Given the description of an element on the screen output the (x, y) to click on. 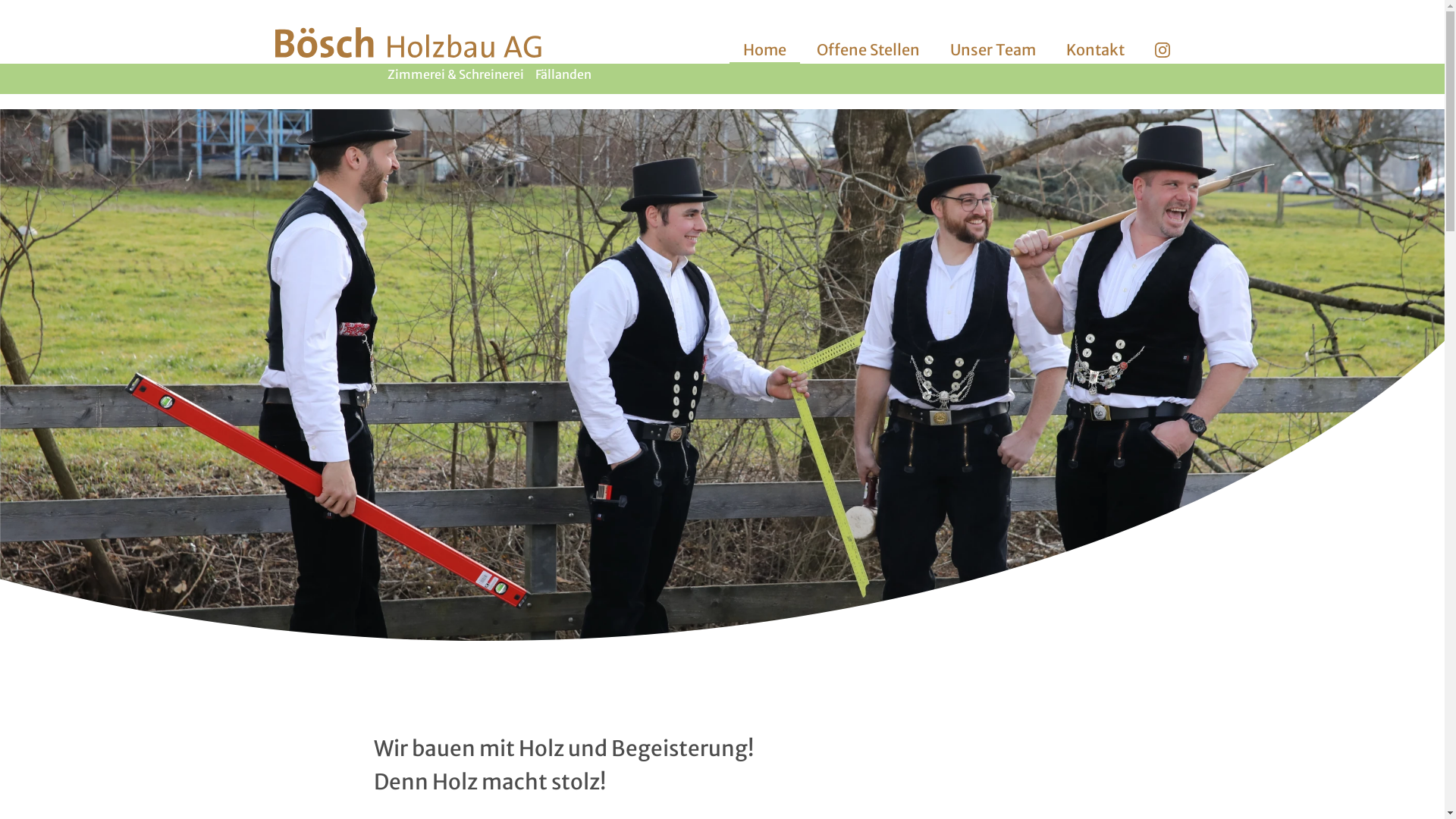
Offene Stellen Element type: text (867, 49)
Kontakt Element type: text (1095, 49)
Unser Team Element type: text (992, 49)
